Given the description of an element on the screen output the (x, y) to click on. 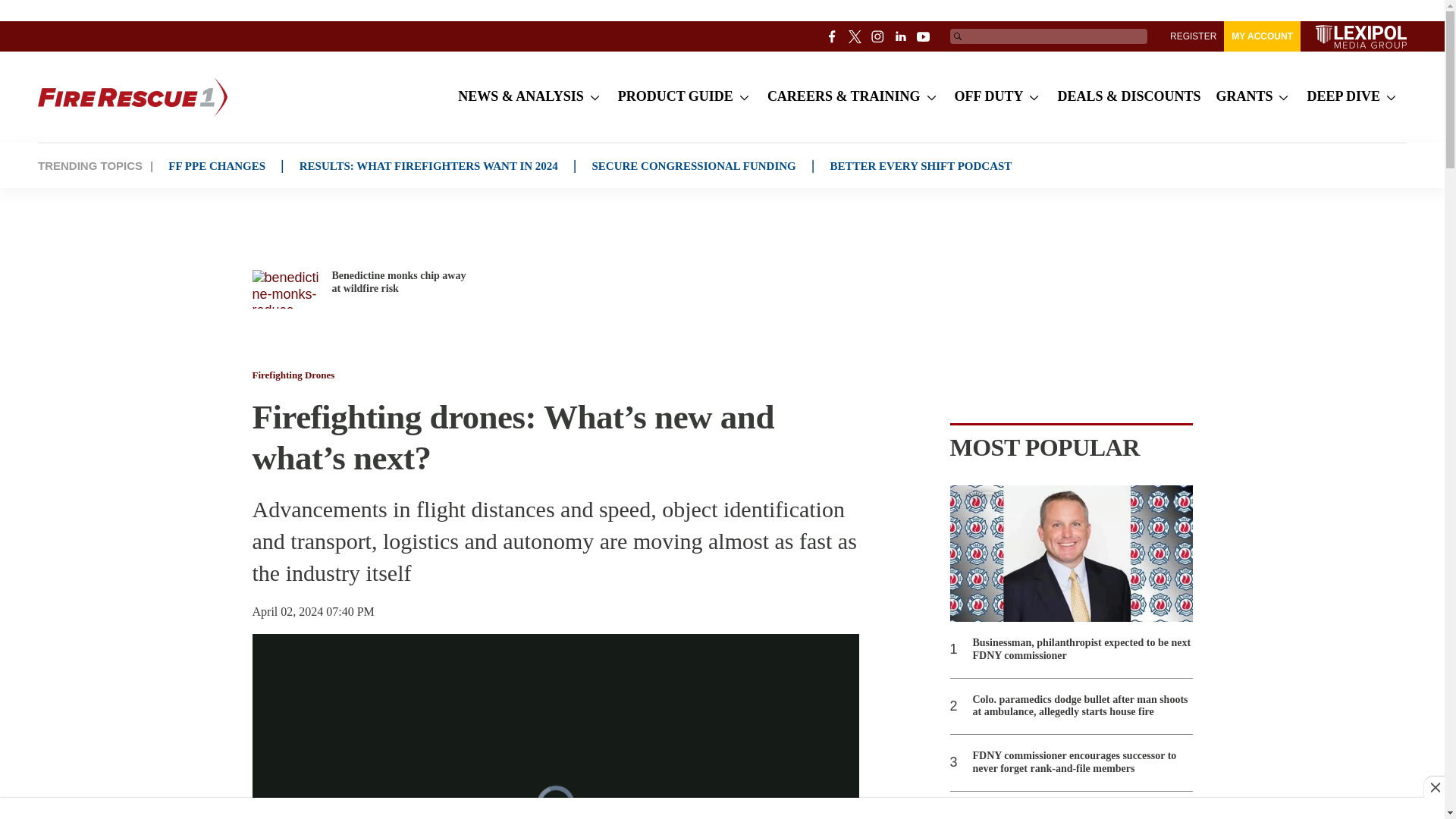
facebook (832, 36)
youtube (923, 36)
REGISTER (1192, 36)
linkedin (900, 36)
twitter (855, 36)
MY ACCOUNT (1262, 36)
instagram (877, 36)
